Given the description of an element on the screen output the (x, y) to click on. 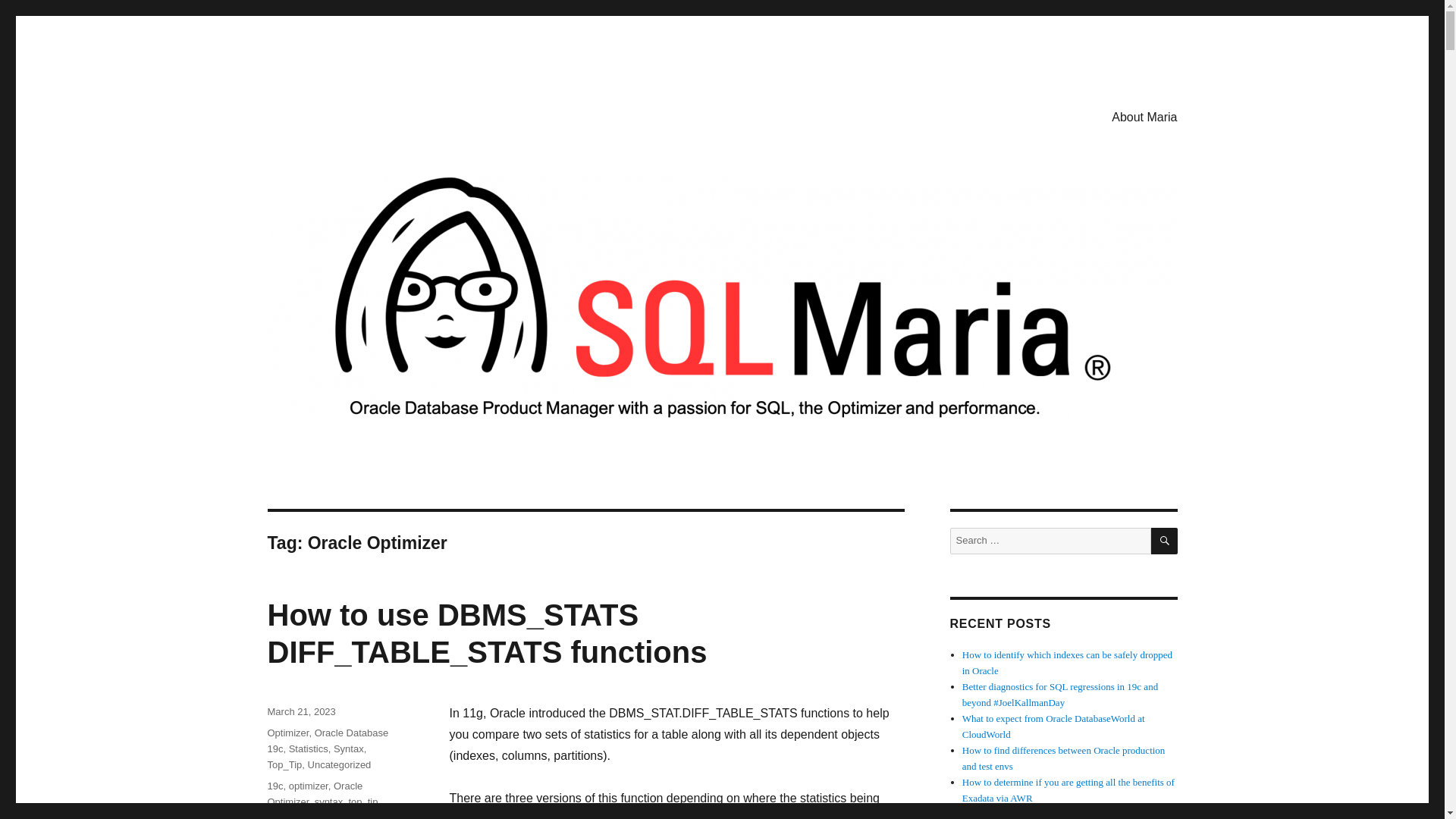
Statistics (308, 748)
Optimizer (287, 732)
Oracle Database 19c (327, 740)
About Maria (1144, 116)
optimizer (308, 785)
syntax (328, 801)
Uncategorized (339, 764)
Syntax (348, 748)
19c (274, 785)
Oracle Optimizer (314, 793)
